Given the description of an element on the screen output the (x, y) to click on. 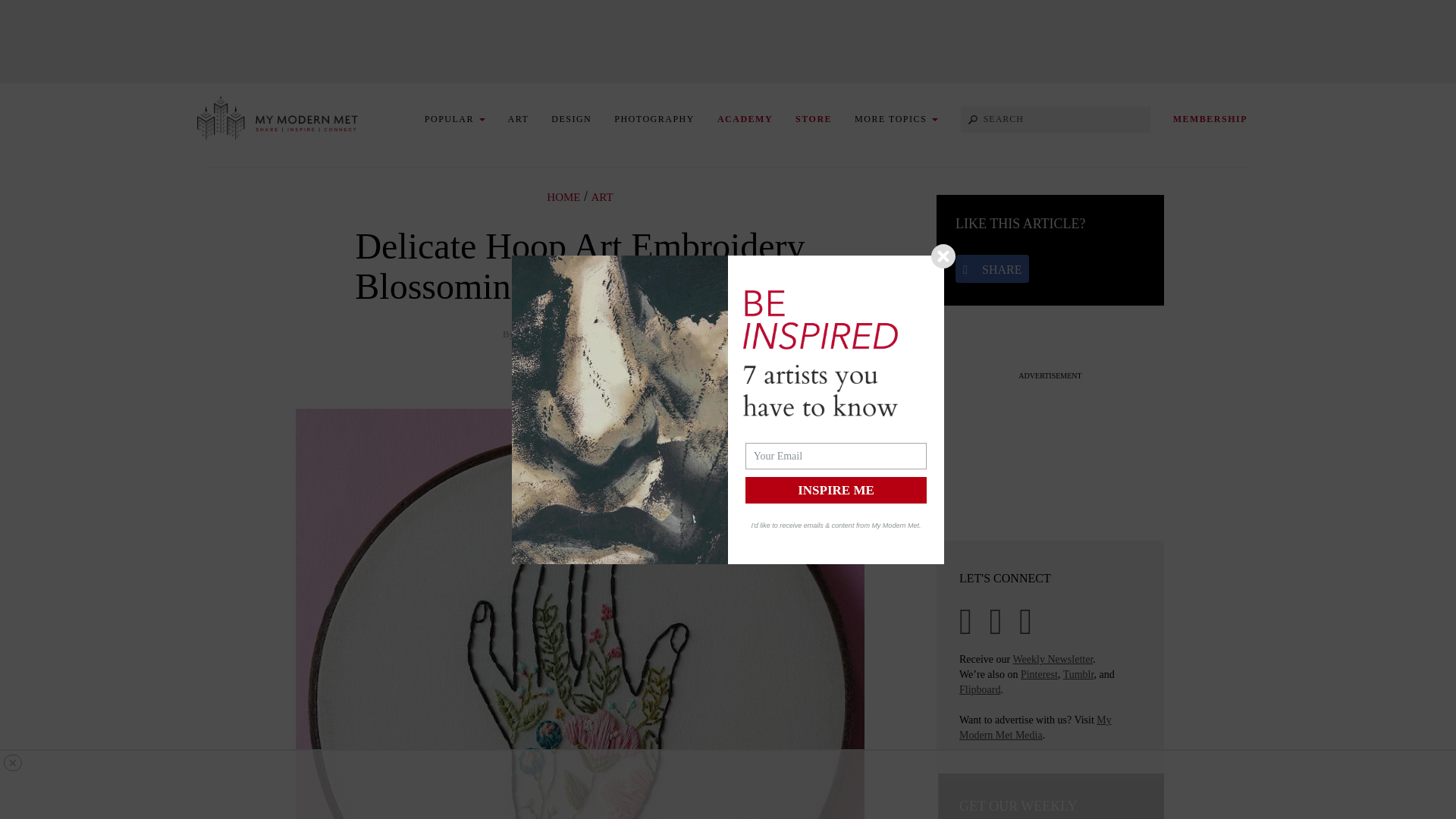
Inspire Me (835, 489)
Close (943, 256)
